Given the description of an element on the screen output the (x, y) to click on. 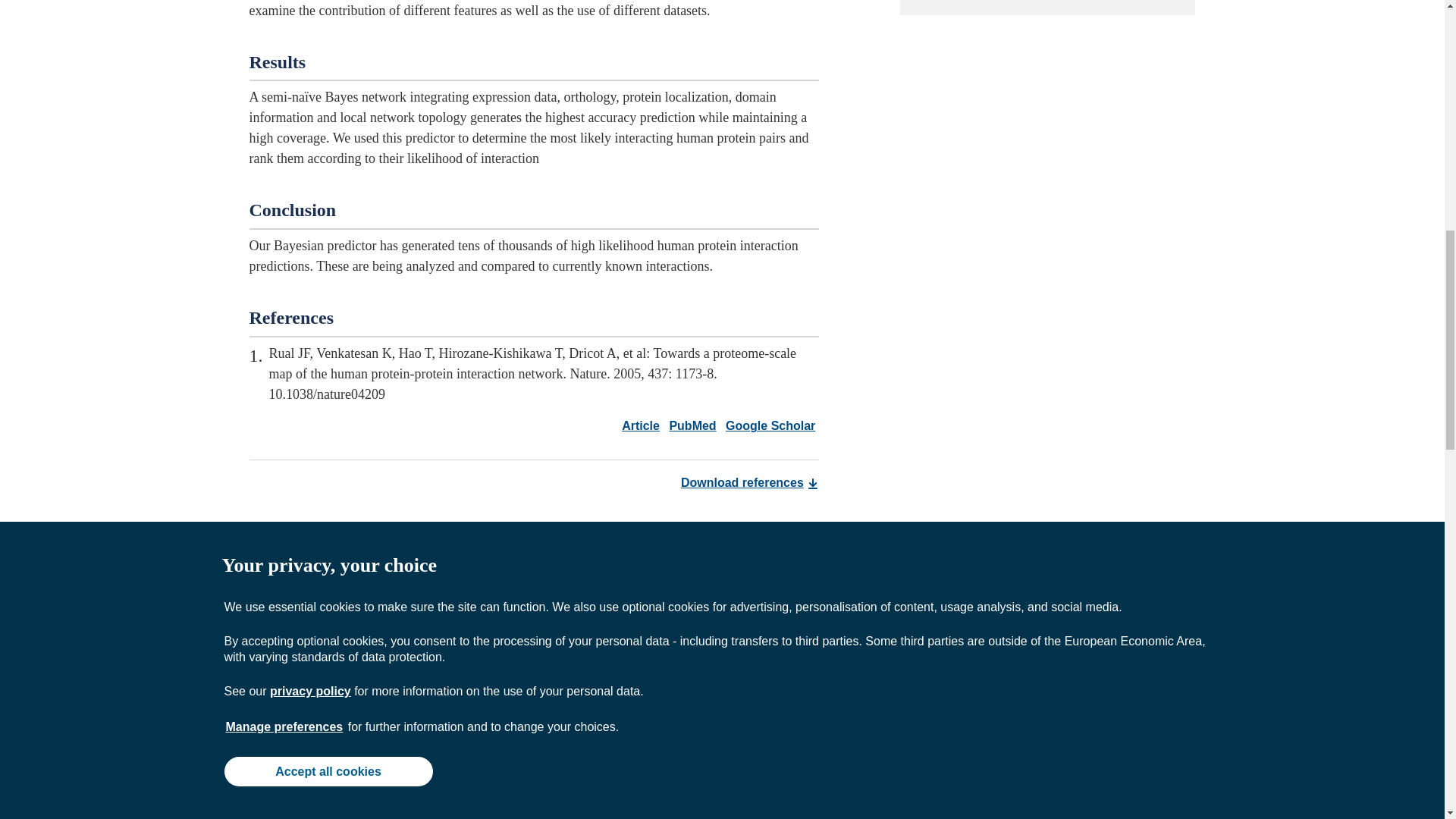
Michelle S Scott (400, 685)
PubMed (689, 425)
Article (640, 425)
Google Scholar (767, 425)
Download references (749, 481)
